Given the description of an element on the screen output the (x, y) to click on. 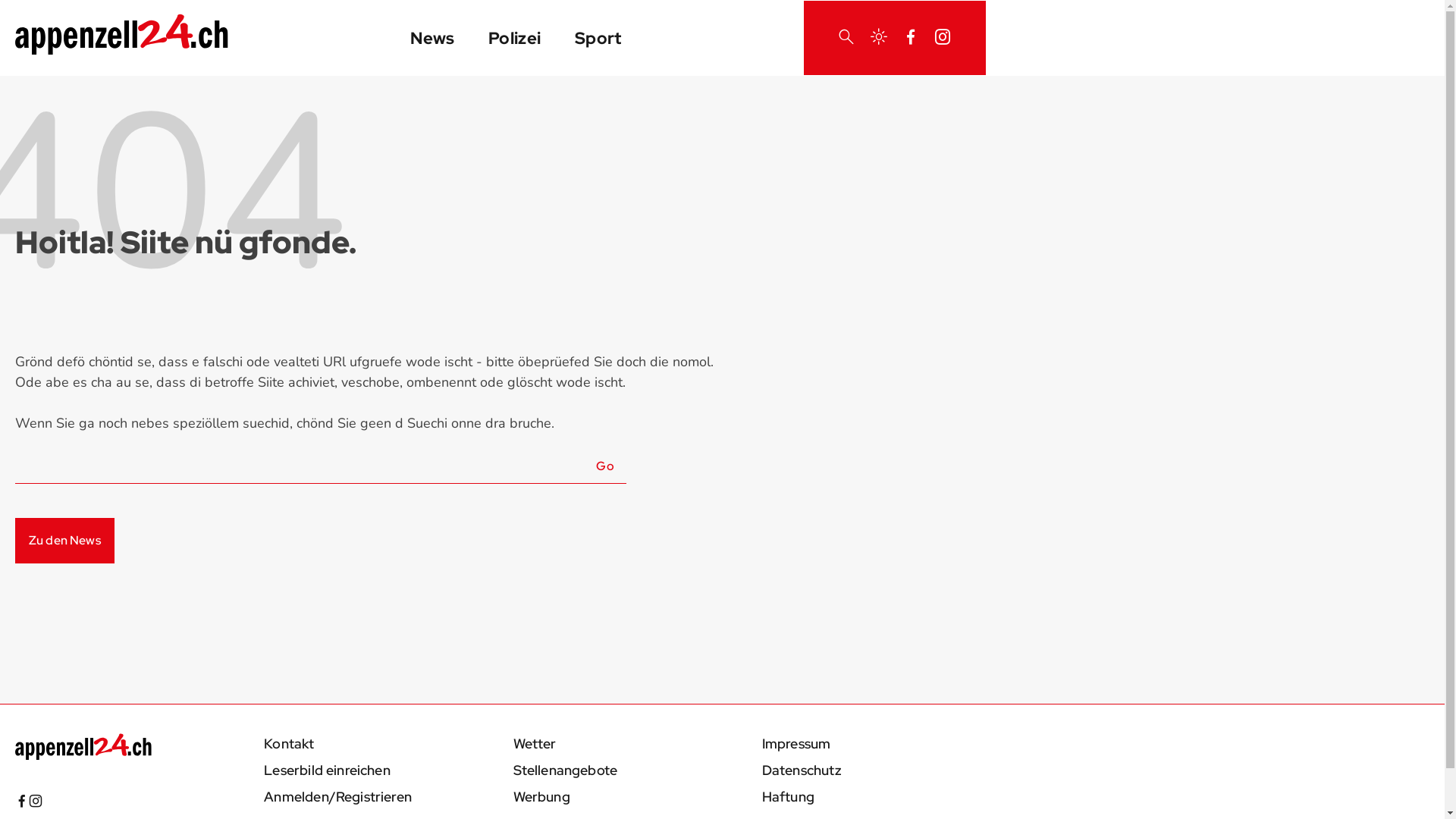
Wetter Element type: text (533, 743)
Leserbild einreichen Element type: text (326, 769)
Datenschutz Element type: text (801, 769)
Anmelden/Registrieren Element type: text (337, 796)
Go Element type: text (604, 464)
Haftung Element type: text (788, 796)
Sport Element type: text (598, 37)
Stellenangebote Element type: text (564, 769)
News Element type: text (432, 37)
Zu den News Element type: text (64, 540)
Impressum Element type: text (796, 743)
Polizei Element type: text (514, 37)
Kontakt Element type: text (288, 743)
Werbung Element type: text (540, 796)
